Given the description of an element on the screen output the (x, y) to click on. 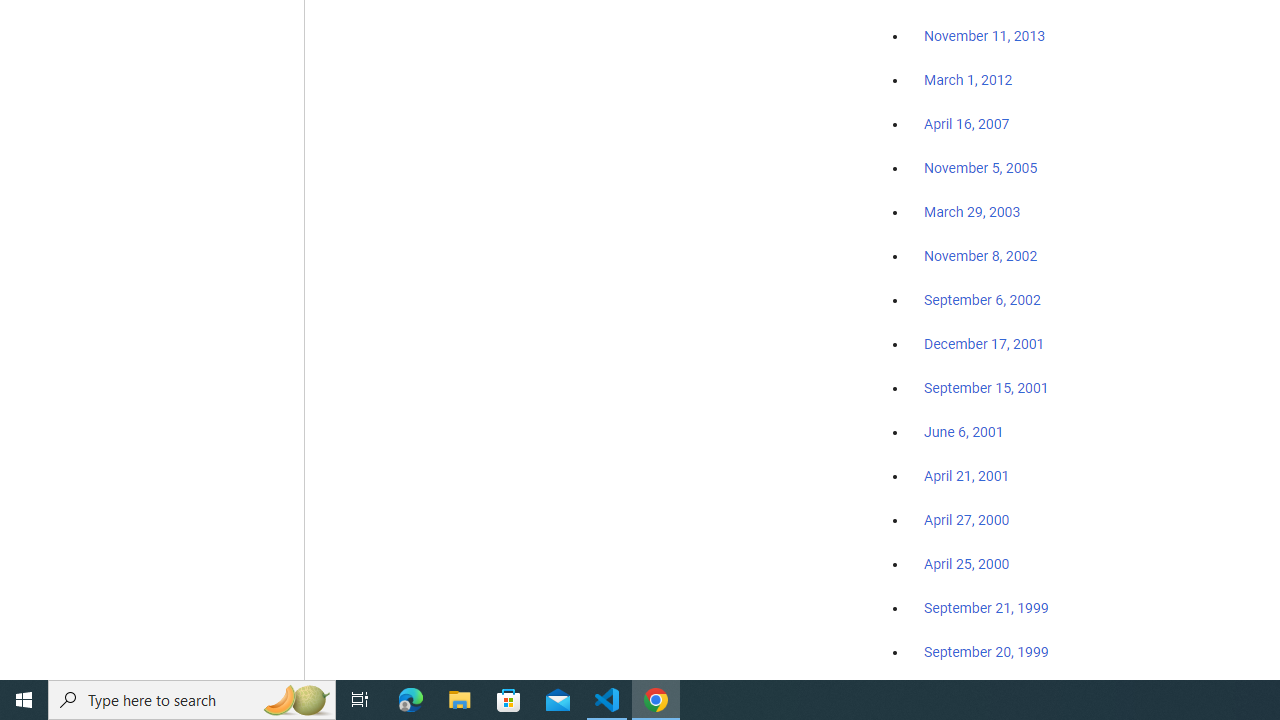
March 29, 2003 (972, 212)
September 6, 2002 (982, 299)
April 25, 2000 (966, 564)
April 27, 2000 (966, 520)
March 1, 2012 (968, 81)
September 15, 2001 (986, 387)
April 16, 2007 (966, 124)
November 11, 2013 (984, 37)
April 21, 2001 (966, 476)
December 17, 2001 (984, 343)
November 8, 2002 (981, 255)
September 21, 1999 (986, 608)
November 5, 2005 (981, 168)
June 6, 2001 (963, 431)
September 20, 1999 (986, 651)
